Given the description of an element on the screen output the (x, y) to click on. 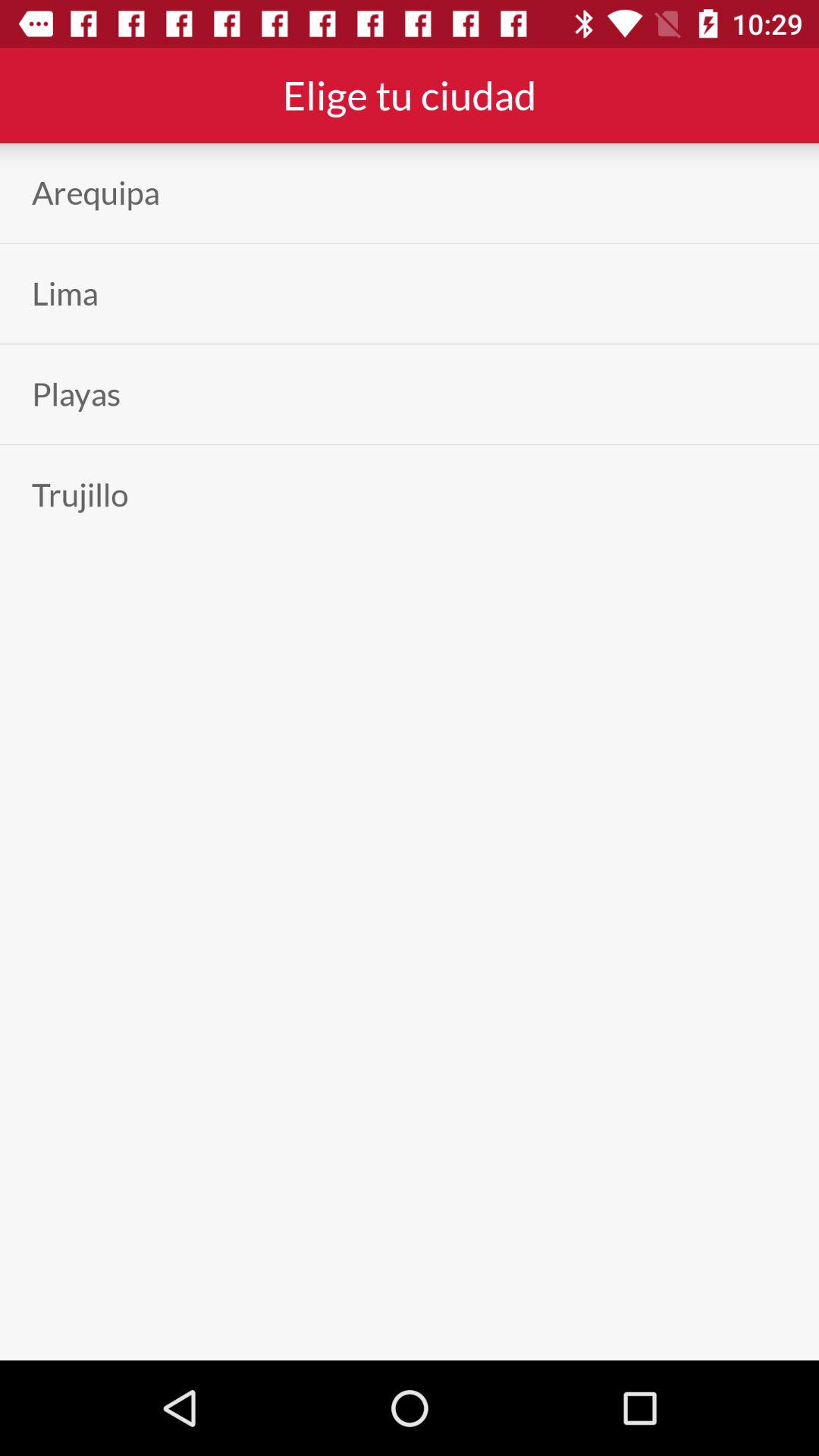
jump to arequipa icon (95, 193)
